Given the description of an element on the screen output the (x, y) to click on. 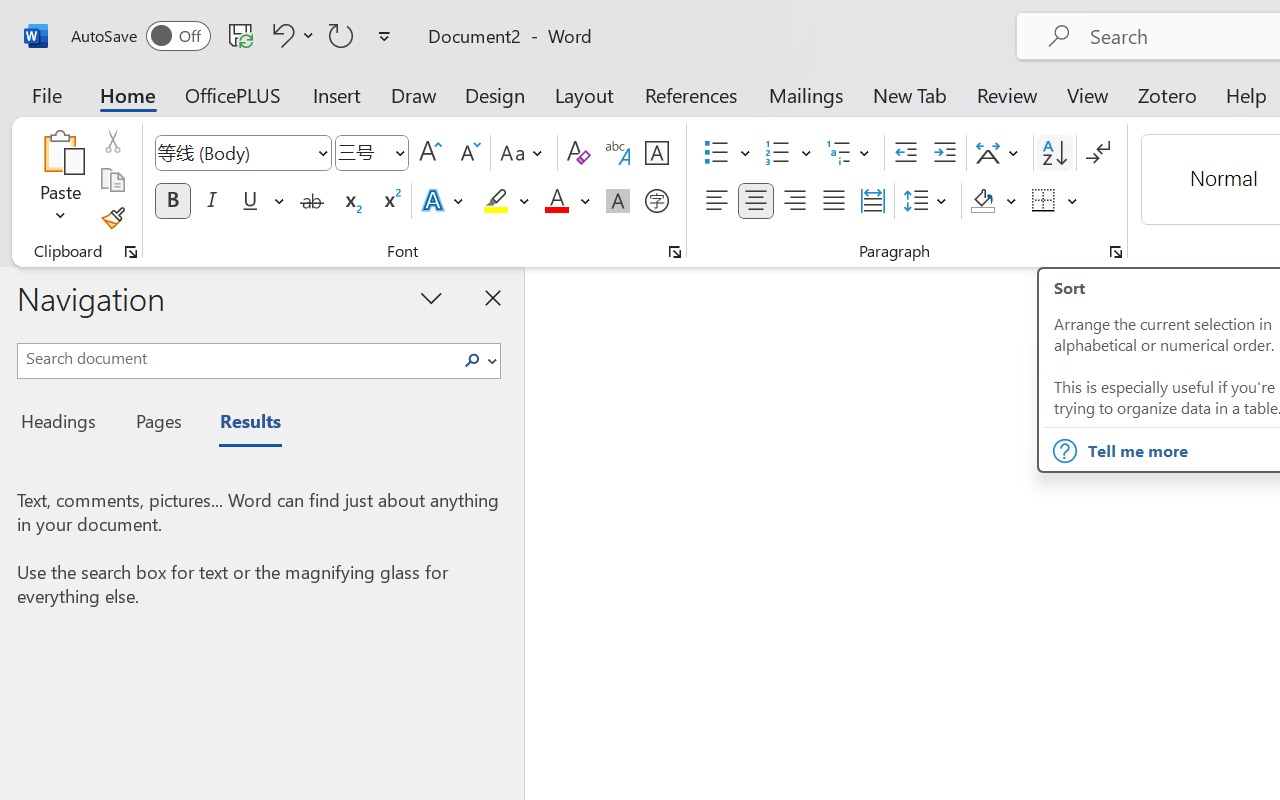
Mailings (806, 94)
Superscript (390, 201)
Office Clipboard... (131, 252)
Decrease Indent (906, 153)
Italic (212, 201)
Search (478, 360)
Review (1007, 94)
Character Border (656, 153)
Shading (993, 201)
Strikethrough (312, 201)
Text Highlight Color (506, 201)
Grow Font (430, 153)
Increase Indent (944, 153)
